Given the description of an element on the screen output the (x, y) to click on. 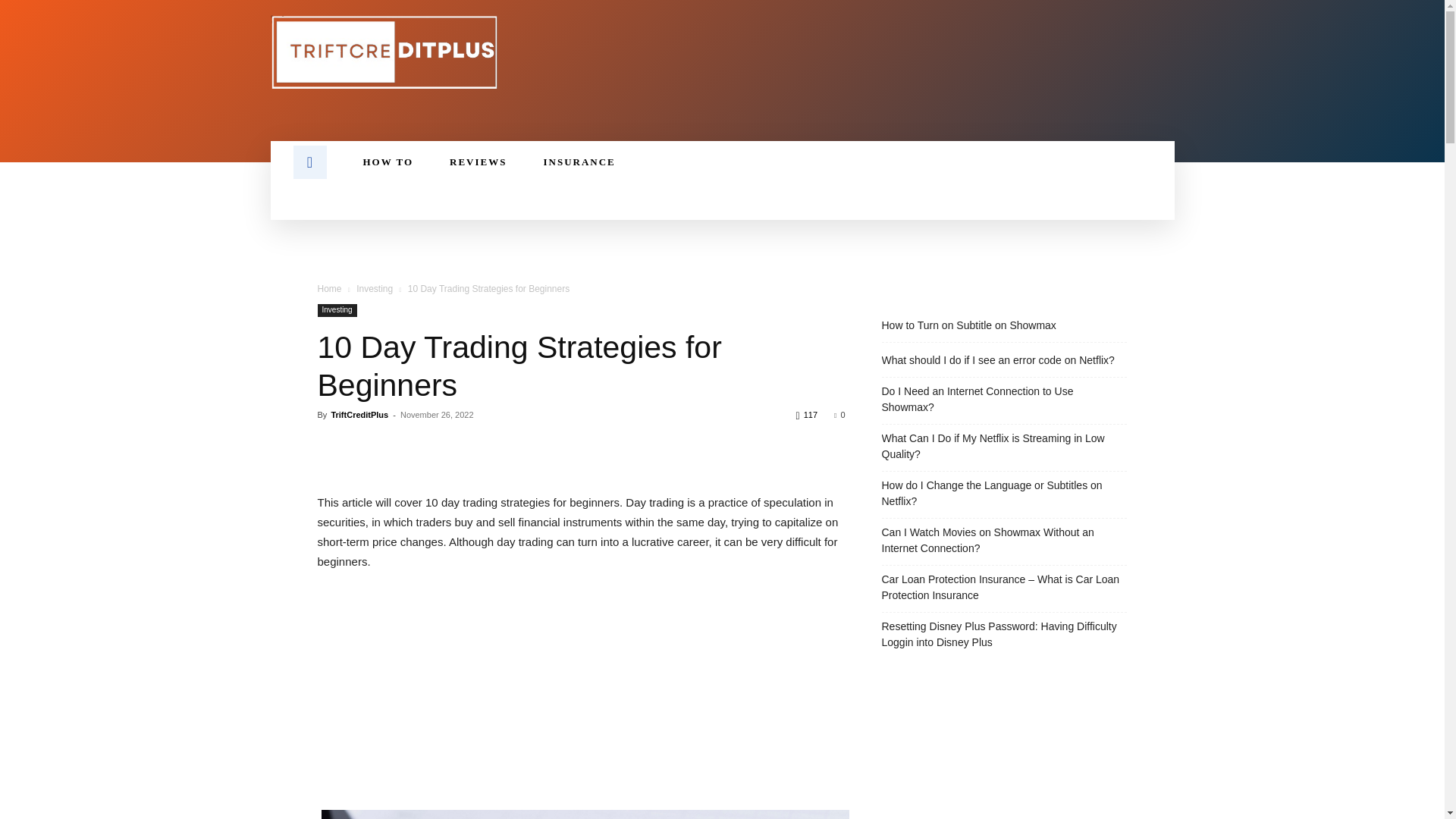
View all posts in Investing (374, 288)
HOW TO (386, 161)
REVIEWS (477, 161)
Investing (374, 288)
INSURANCE (578, 161)
Investing (336, 309)
Advertisement (580, 697)
TriftCreditPlus (359, 414)
0 (839, 414)
Home (328, 288)
